Given the description of an element on the screen output the (x, y) to click on. 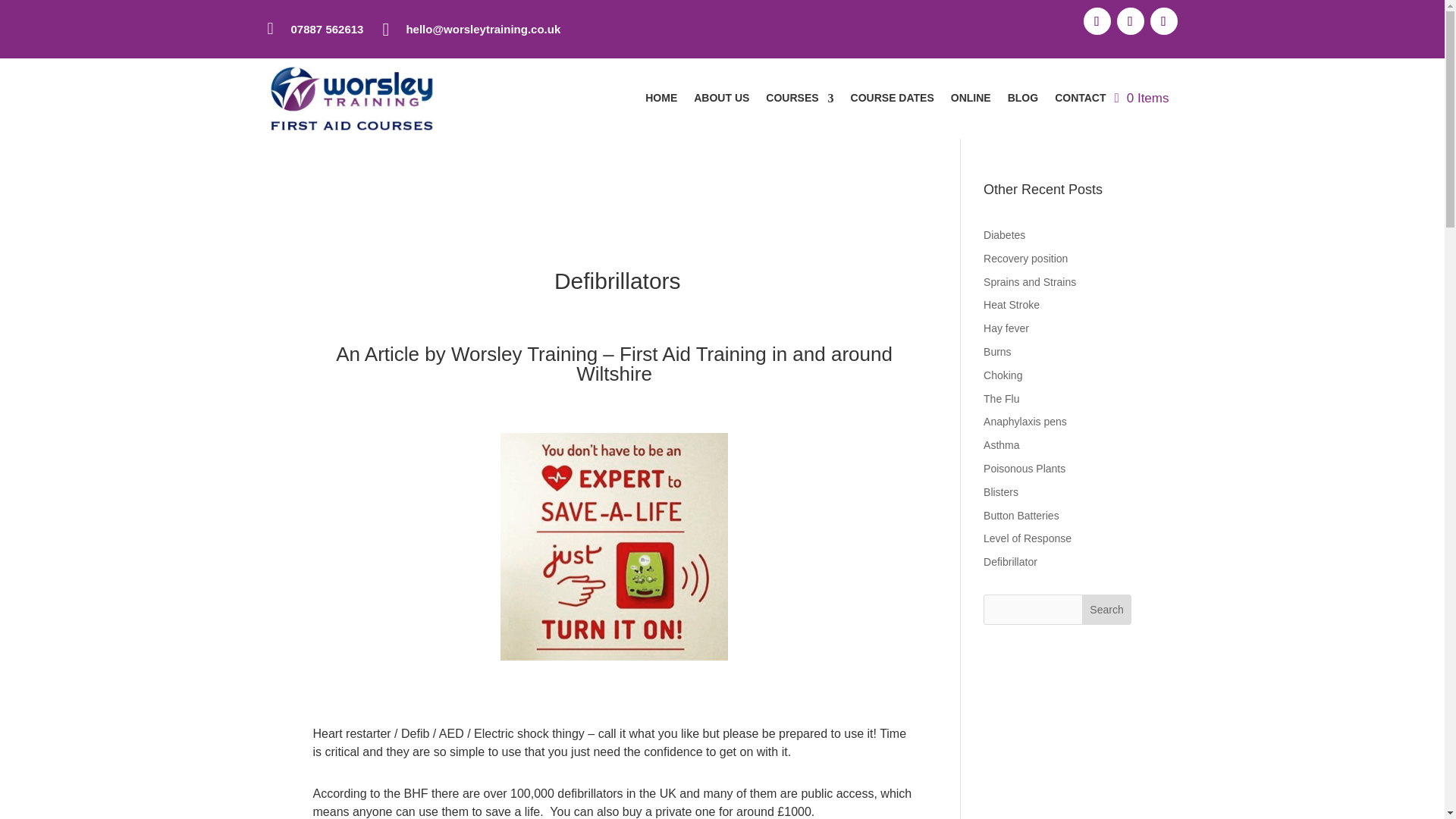
Defibrillator Training (614, 546)
Follow on Instagram (1163, 21)
COURSE DATES (892, 98)
Follow on LinkedIn (1129, 21)
COURSES (798, 98)
Follow on Facebook (1096, 21)
